Given the description of an element on the screen output the (x, y) to click on. 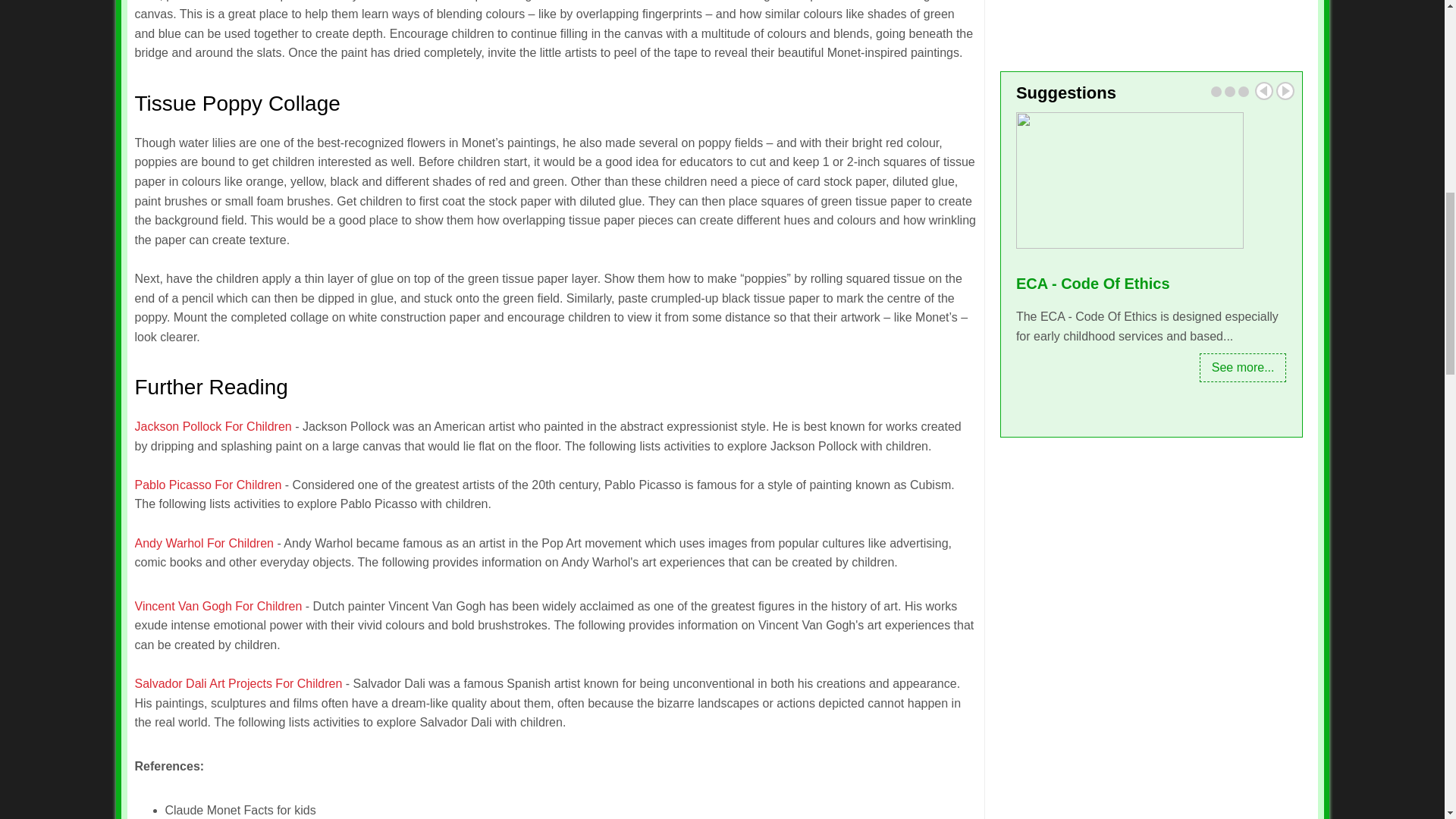
Salvador Dali Art Projects For Children (238, 683)
Vincent Van Gogh For Children  (220, 605)
Pablo Picasso For Children (208, 484)
Jackson Pollock For Children  (215, 426)
Andy Warhol For Children (204, 543)
ECA - Code Of Ethics (1151, 283)
